Given the description of an element on the screen output the (x, y) to click on. 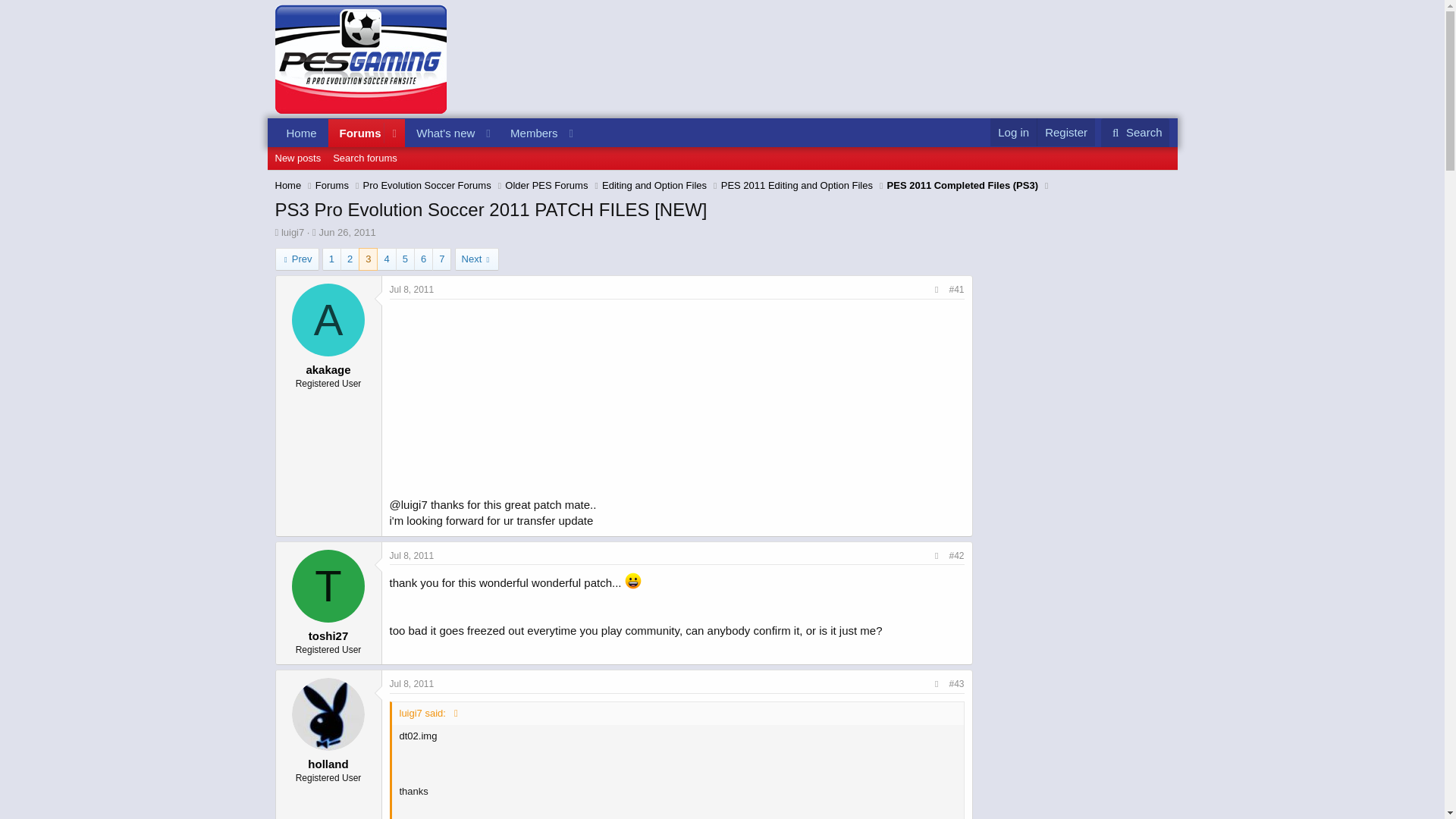
Search (1135, 132)
luigi7 (427, 149)
Prev (292, 232)
Big Grin    :D (296, 259)
Home (633, 580)
Forums (288, 185)
Home (356, 132)
Register (301, 132)
What's new (1065, 131)
Forums (440, 132)
Jun 26, 2011 (332, 185)
Jul 8, 2011 at 4:09 AM (346, 232)
New posts (411, 289)
Jun 26, 2011 at 4:29 PM (296, 158)
